Given the description of an element on the screen output the (x, y) to click on. 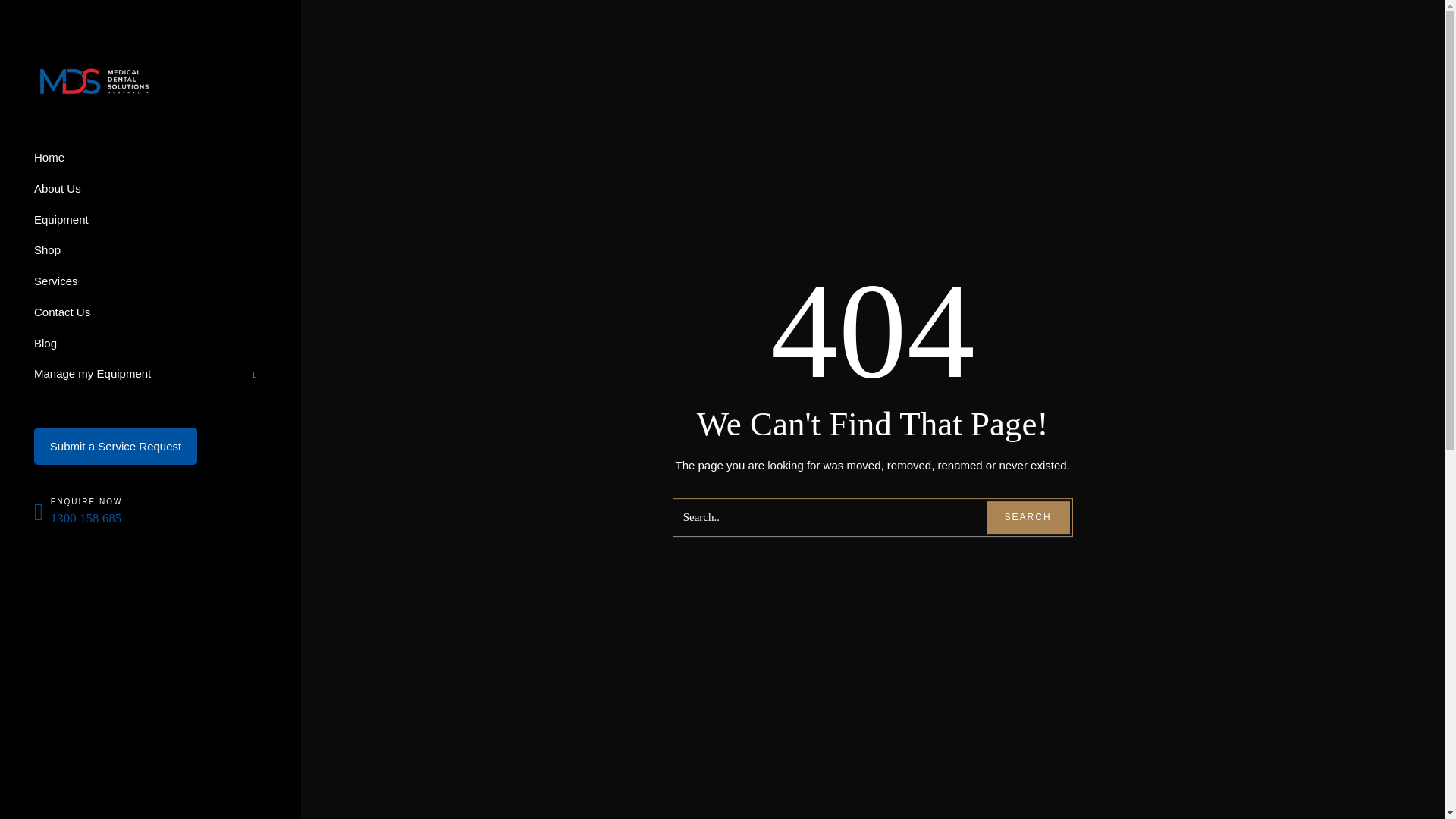
1300 158 685 (86, 518)
Blog (149, 347)
Services (149, 285)
Home (149, 161)
Manage my Equipment (149, 377)
SEARCH (1028, 517)
Shop (149, 254)
Contact Us (149, 316)
Equipment (149, 223)
Submit a Service Request (115, 450)
Submit a Service Request (114, 446)
About Us (149, 192)
